Given the description of an element on the screen output the (x, y) to click on. 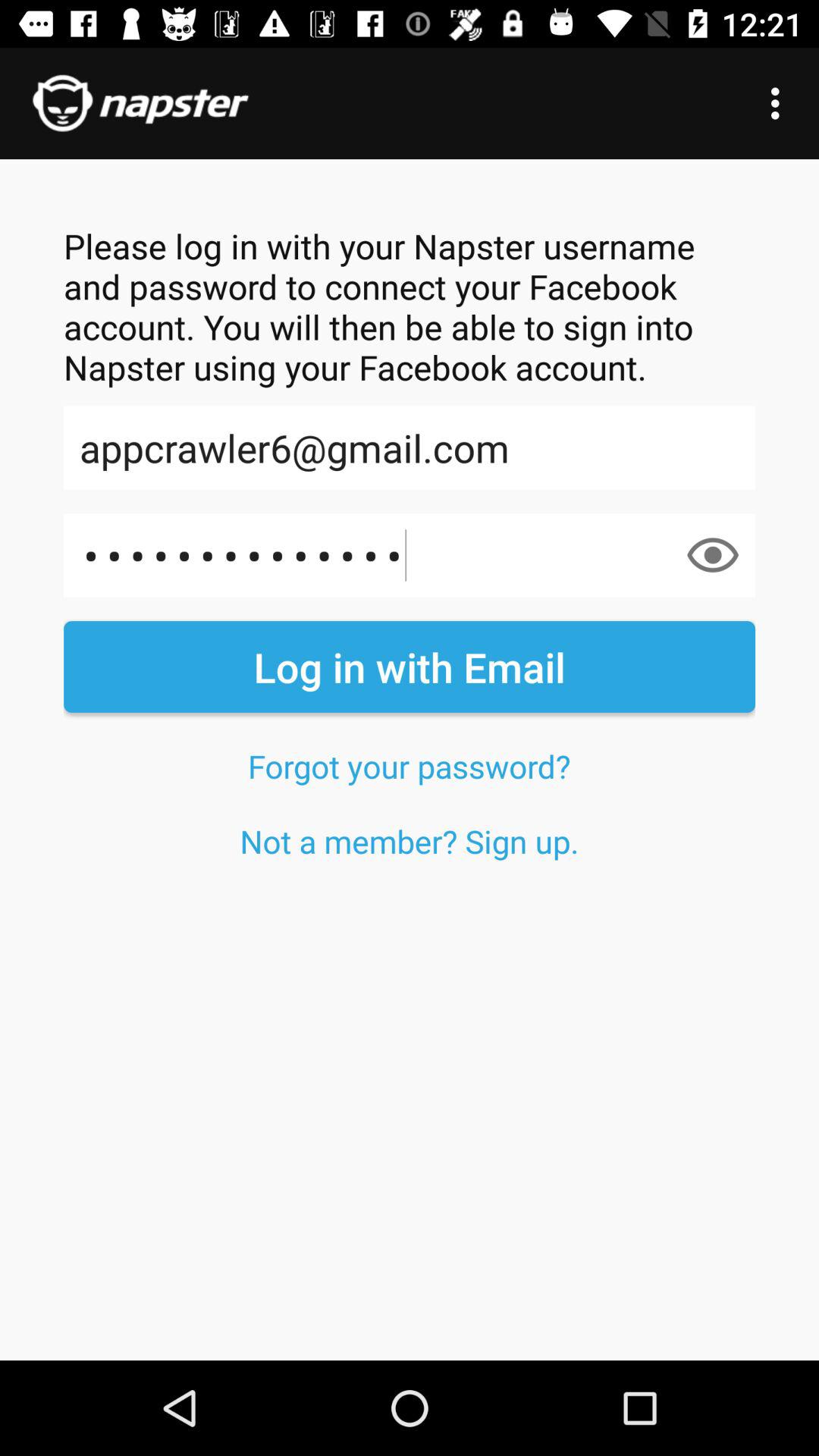
press icon above the log in with (409, 555)
